Given the description of an element on the screen output the (x, y) to click on. 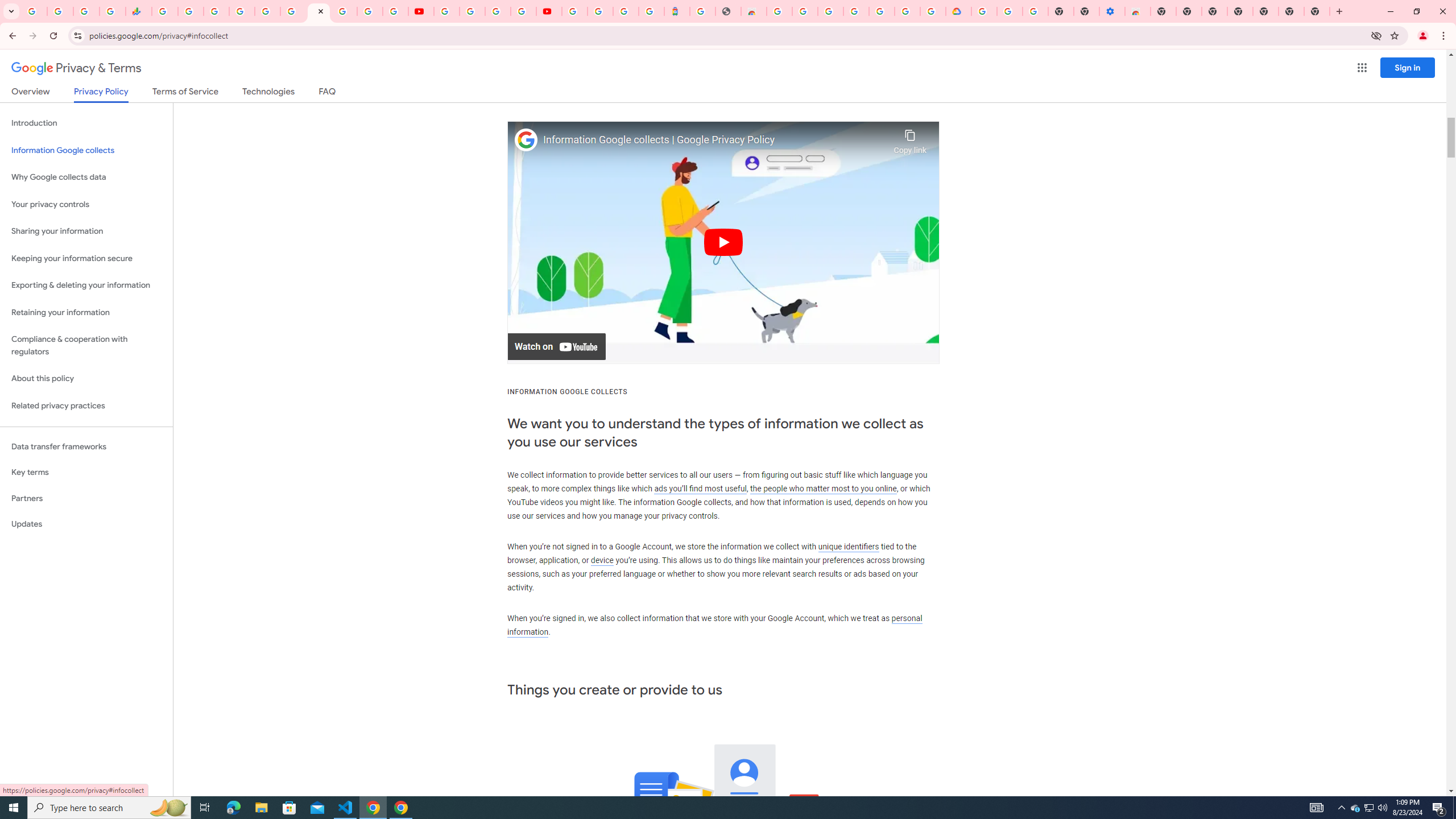
Play (723, 242)
New Tab (1316, 11)
Keeping your information secure (86, 258)
Create your Google Account (497, 11)
Your privacy controls (86, 204)
Photo image of Google (526, 139)
Atour Hotel - Google hotels (676, 11)
Introduction (86, 122)
Address and search bar (726, 35)
